Given the description of an element on the screen output the (x, y) to click on. 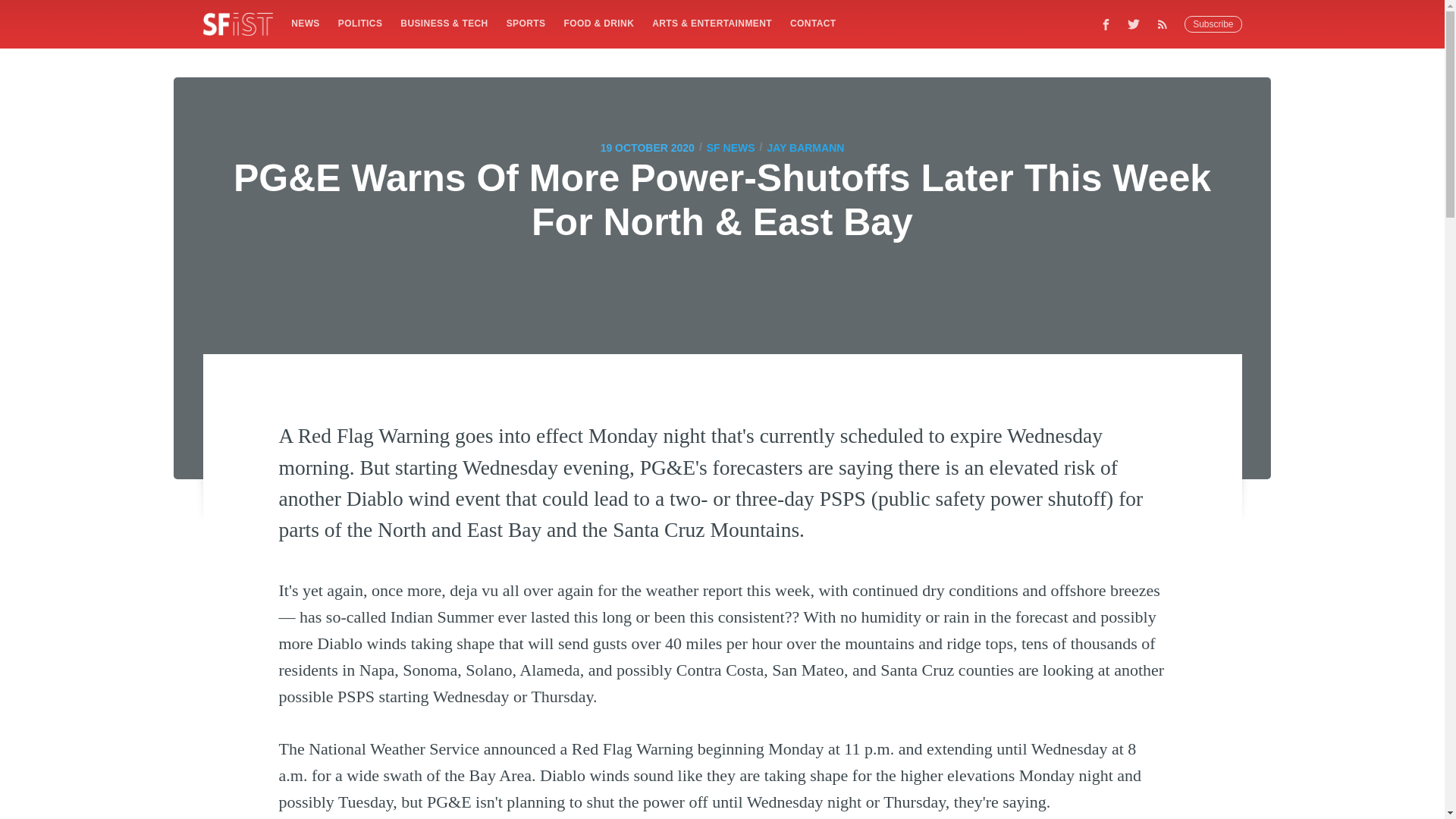
Facebook (1106, 23)
CONTACT (812, 23)
RSS (1166, 23)
NEWS (305, 23)
POLITICS (360, 23)
SPORTS (525, 23)
SF NEWS (730, 147)
Twitter (1133, 23)
JAY BARMANN (805, 147)
Subscribe (1213, 23)
